Given the description of an element on the screen output the (x, y) to click on. 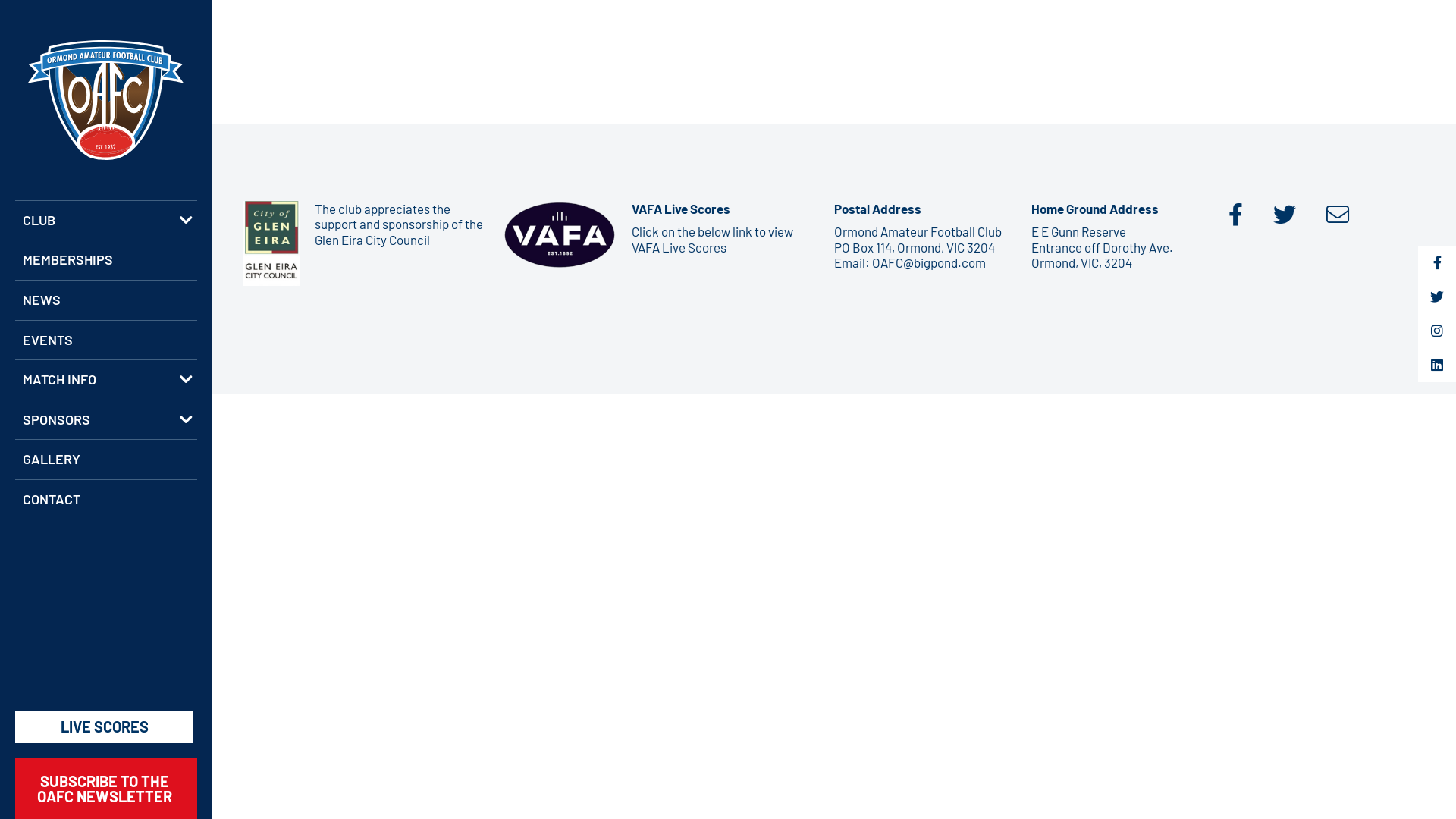
OAFC@bigpond.com Element type: text (928, 261)
VAFA Live Scores Element type: text (678, 246)
GALLERY Element type: text (106, 459)
LIVE SCORES Element type: text (104, 726)
EVENTS Element type: text (106, 340)
E E Gunn Reserve
Entrance off Dorothy Ave.
Ormond, VIC, 3204 Element type: text (1102, 246)
OAFC Reversed Element type: hover (105, 99)
NEWS Element type: text (106, 299)
CONTACT Element type: text (106, 499)
MATCH INFO Element type: text (106, 379)
MEMBERSHIPS Element type: text (106, 259)
SPONSORS Element type: text (106, 419)
CLUB Element type: text (106, 220)
